Given the description of an element on the screen output the (x, y) to click on. 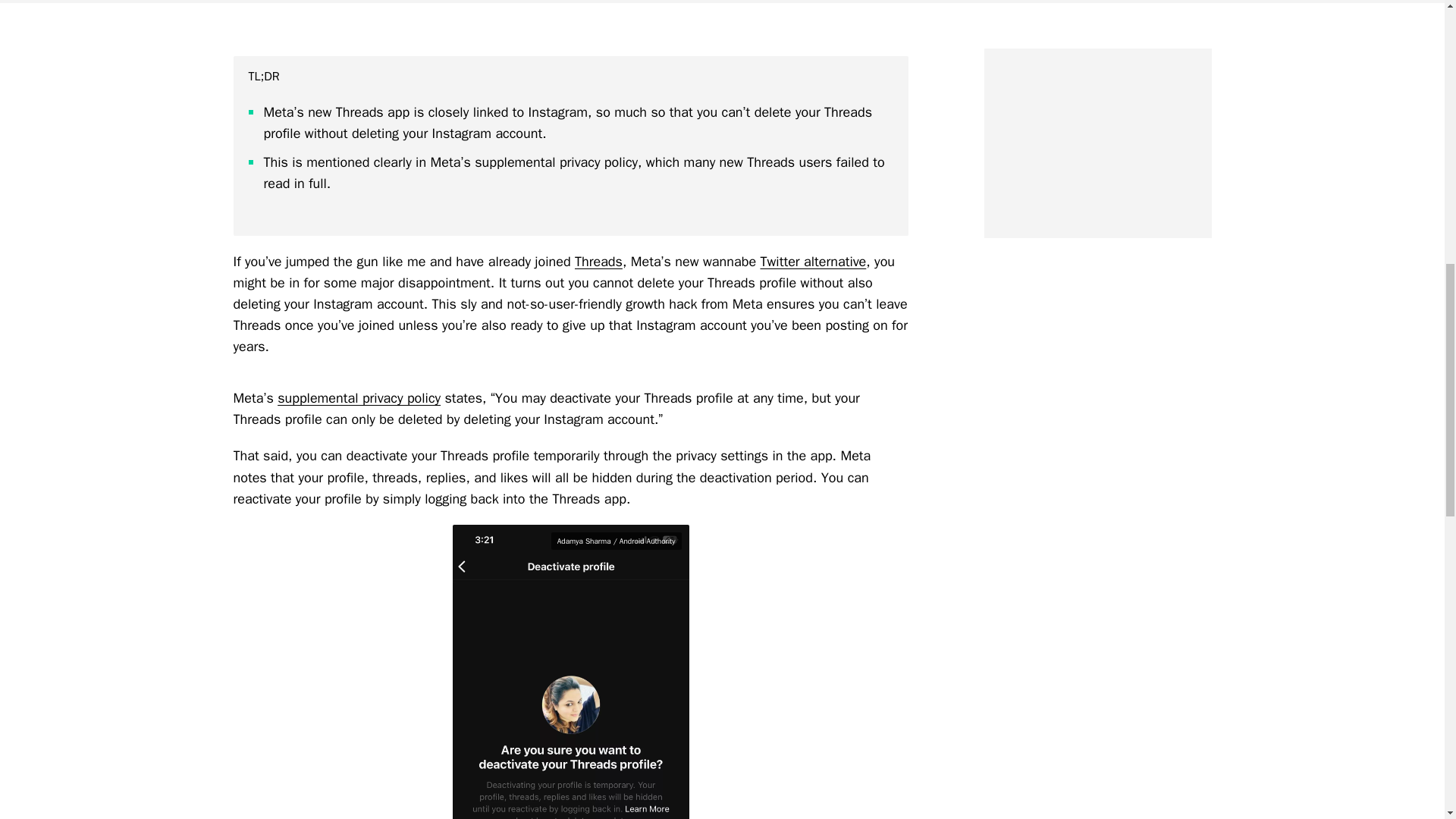
Twitter alternative (813, 261)
Threads (599, 261)
supplemental privacy policy (359, 397)
